Given the description of an element on the screen output the (x, y) to click on. 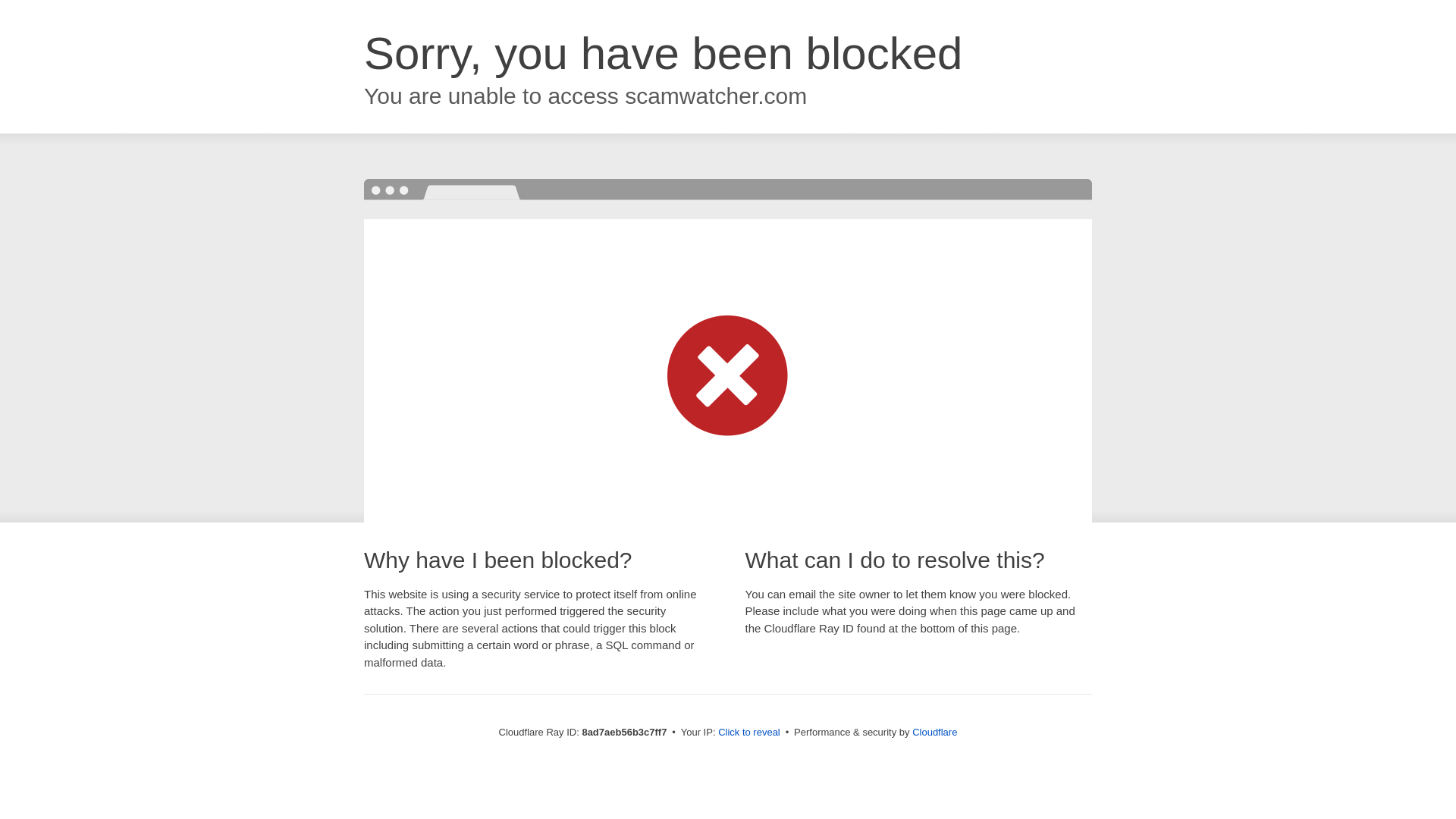
Click to reveal (748, 732)
Cloudflare (934, 731)
